Given the description of an element on the screen output the (x, y) to click on. 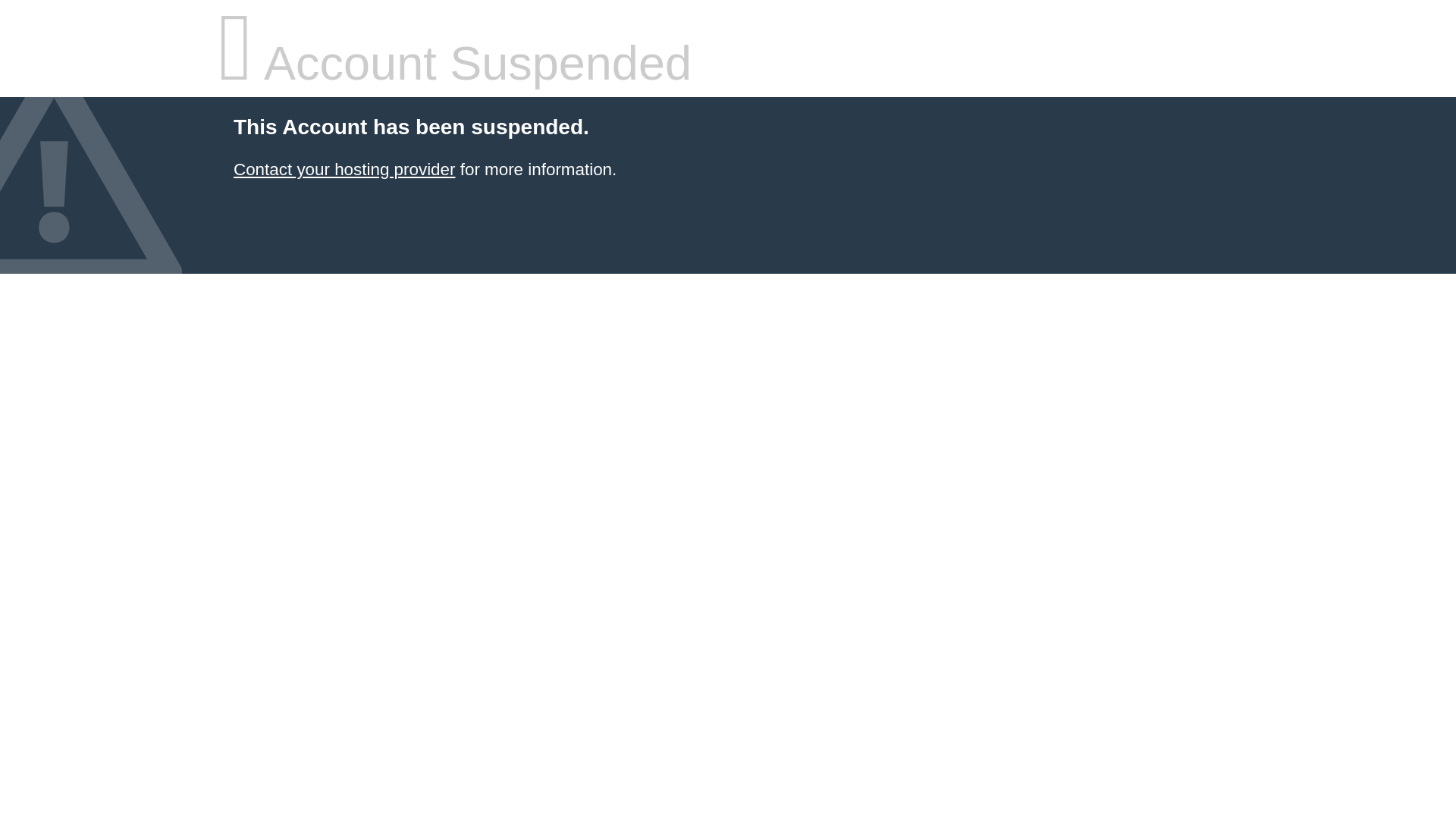
Contact your hosting provider Element type: text (344, 169)
